Given the description of an element on the screen output the (x, y) to click on. 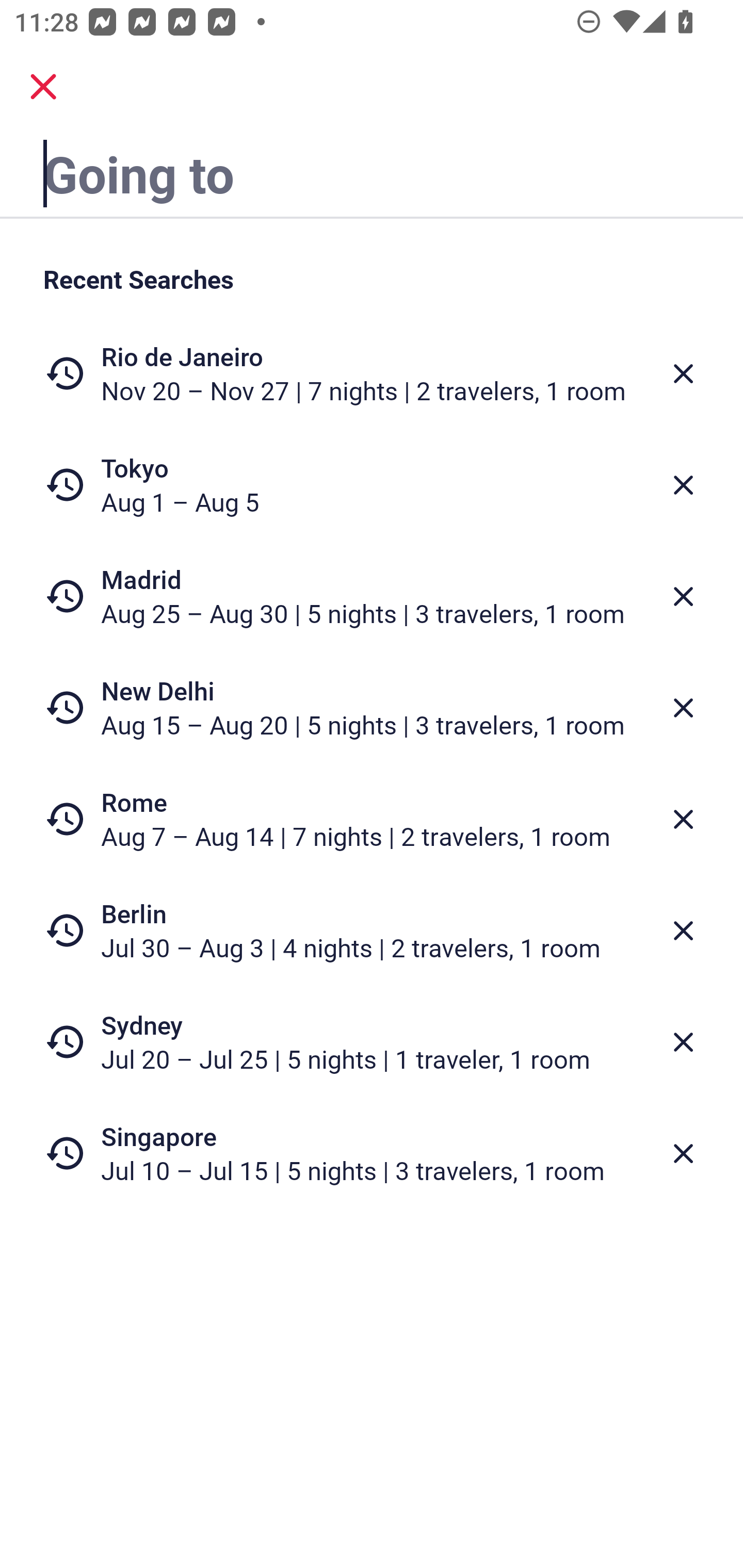
close. (43, 86)
Delete from recent searches (683, 373)
Tokyo Aug 1 – Aug 5 (371, 484)
Delete from recent searches (683, 485)
Delete from recent searches (683, 596)
Delete from recent searches (683, 707)
Delete from recent searches (683, 819)
Delete from recent searches (683, 930)
Delete from recent searches (683, 1041)
Delete from recent searches (683, 1153)
